Given the description of an element on the screen output the (x, y) to click on. 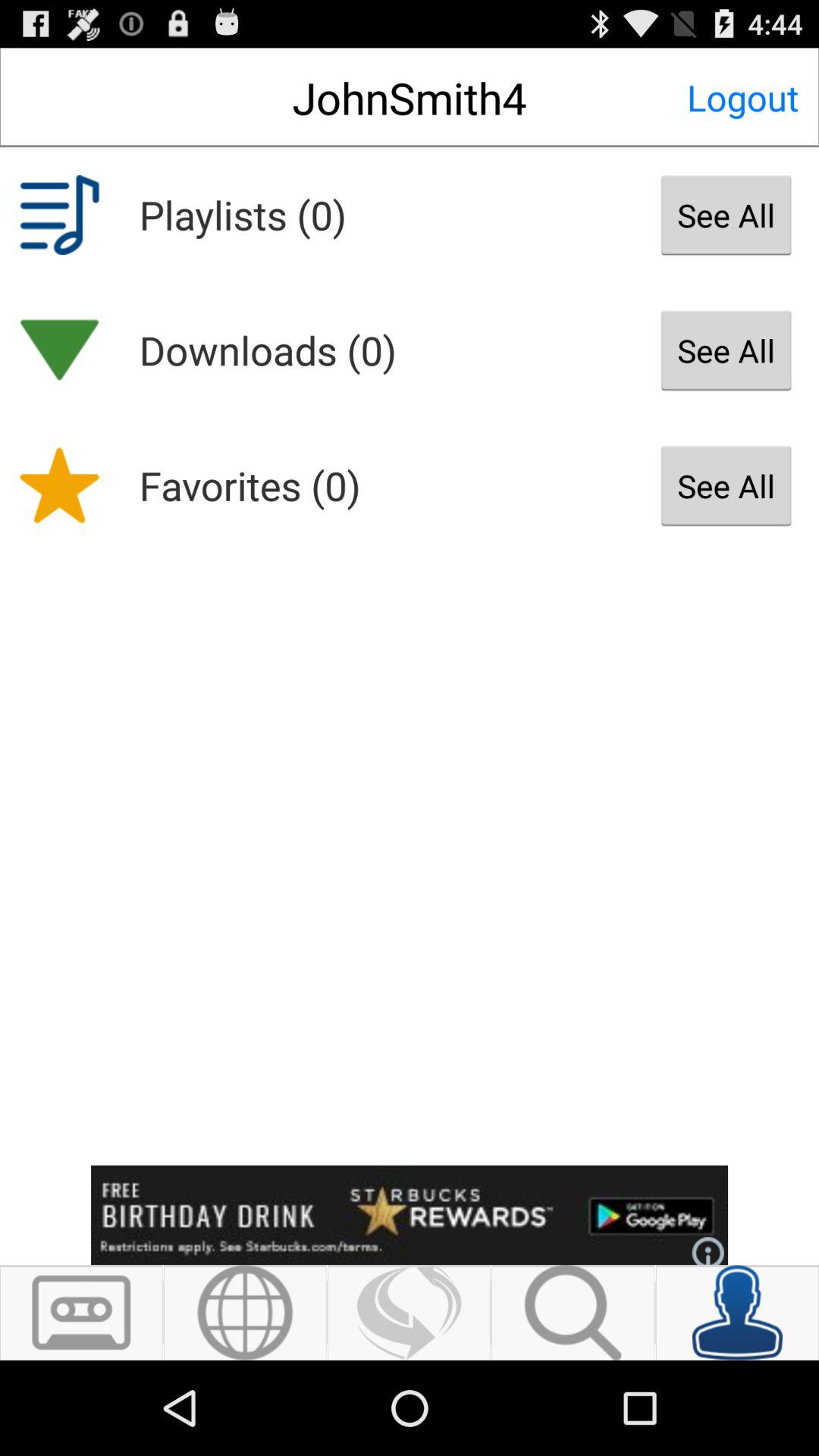
refresh page button (408, 1312)
